Given the description of an element on the screen output the (x, y) to click on. 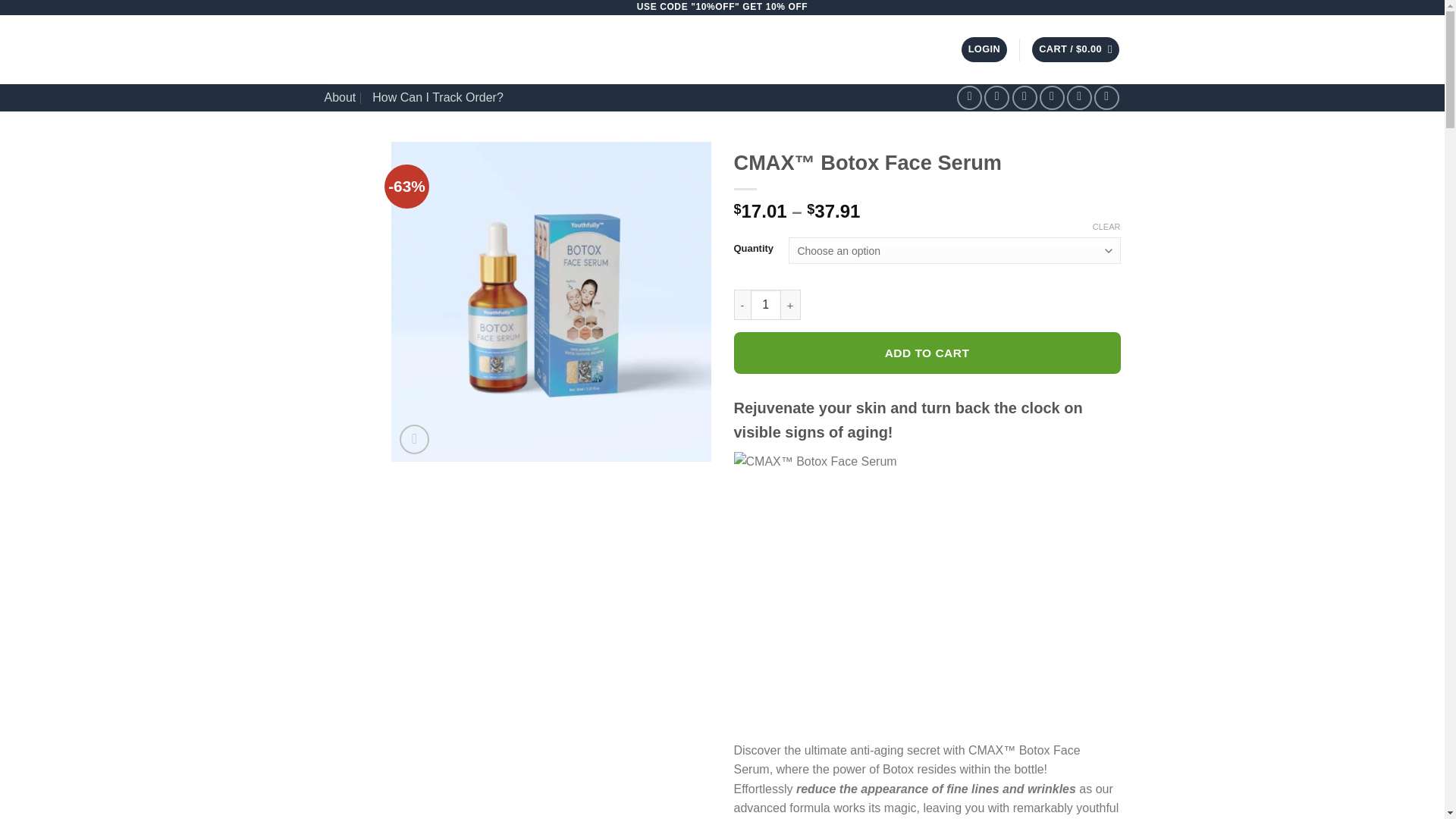
Wizzgoo Shop (457, 49)
Zoom (413, 439)
Follow on Instagram (996, 97)
Follow on Twitter (1023, 97)
ADD TO CART (927, 352)
Follow on Pinterest (1079, 97)
CLEAR (1107, 226)
Send us an email (1051, 97)
How Can I Track Order? (437, 97)
Follow on Facebook (968, 97)
